Given the description of an element on the screen output the (x, y) to click on. 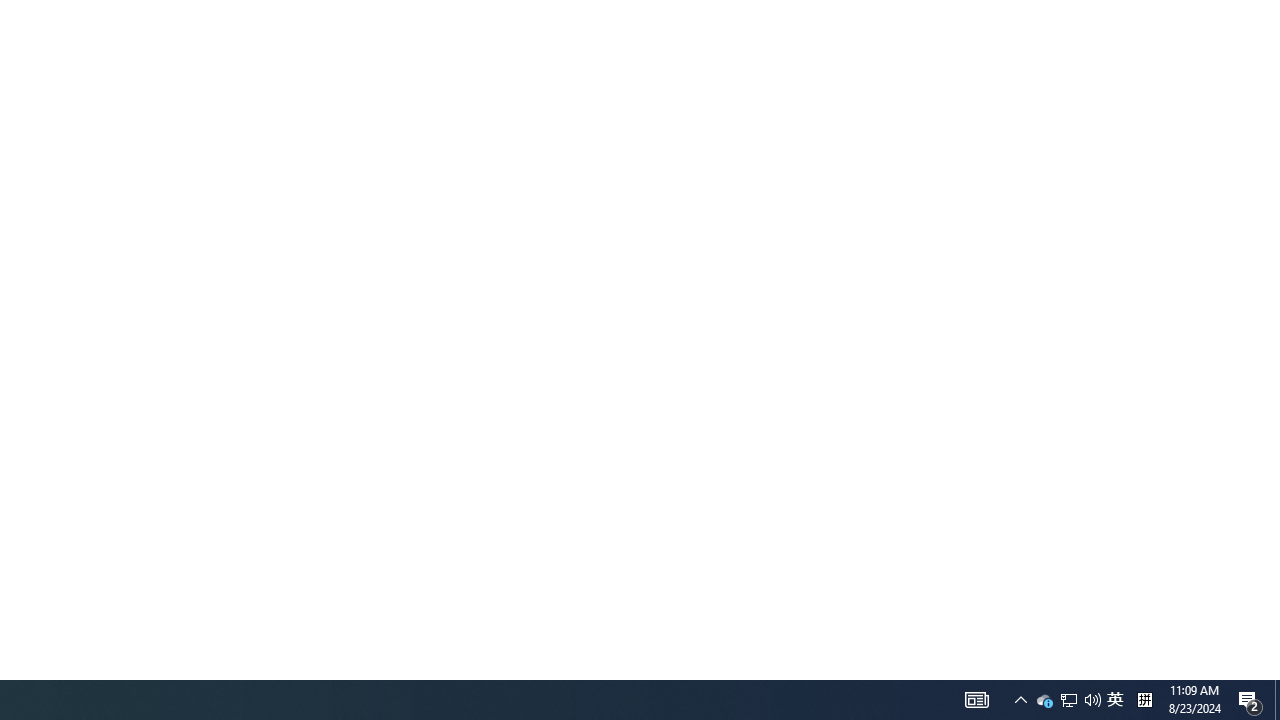
Tray Input Indicator - Chinese (Simplified, China) (1144, 699)
AutomationID: 4105 (976, 699)
Q2790: 100% (1092, 699)
User Promoted Notification Area (1115, 699)
Notification Chevron (1068, 699)
Show desktop (1044, 699)
Action Center, 2 new notifications (1020, 699)
